Given the description of an element on the screen output the (x, y) to click on. 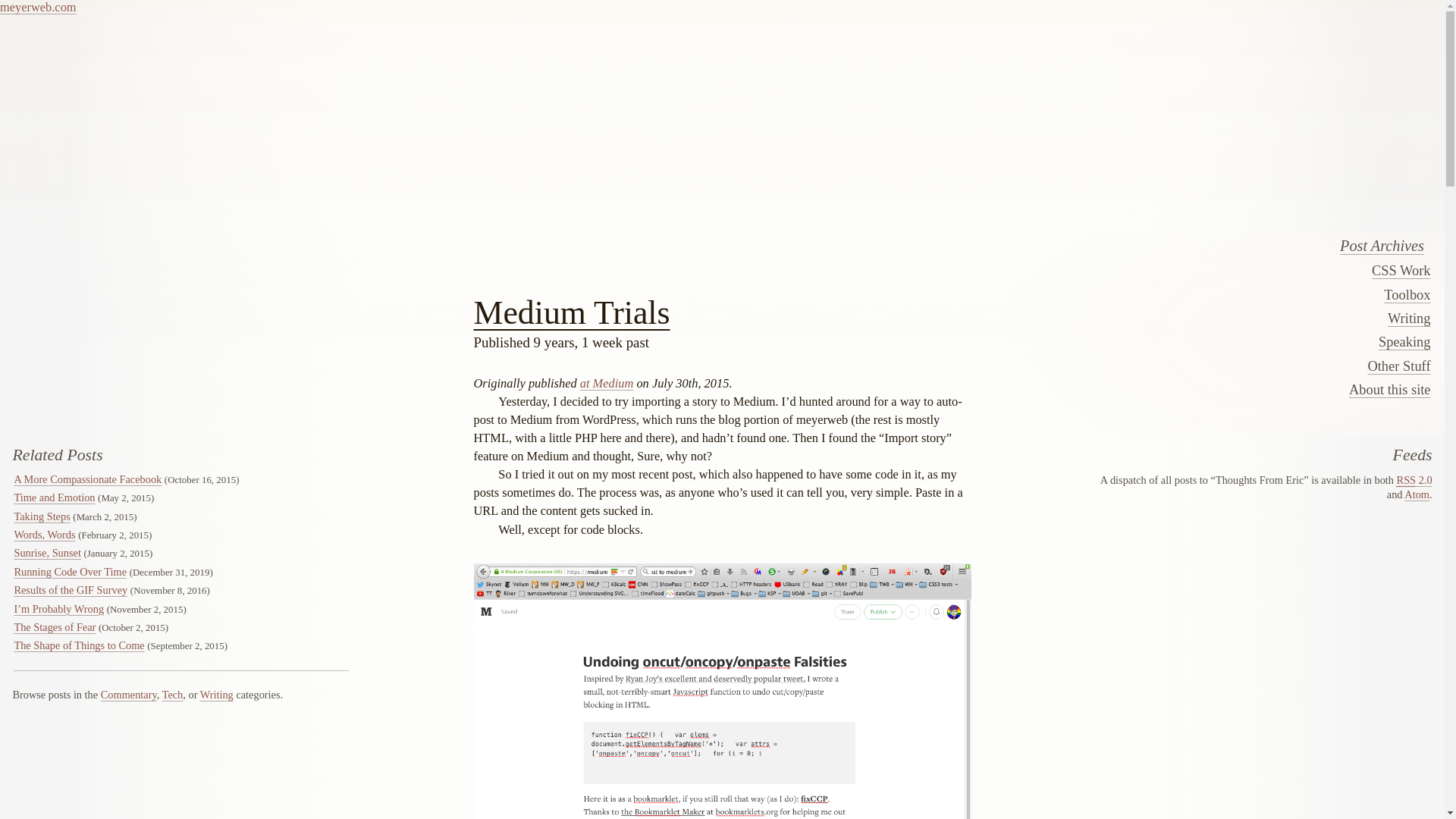
Taking Steps (41, 516)
Really Simple Syndication (1406, 480)
The Stages of Fear (54, 626)
Time and Emotion (53, 497)
Sunrise, Sunset (46, 552)
Running Code Over Time (69, 571)
Aggregate posts using RSS (1414, 480)
Writing (1220, 318)
at Medium (606, 382)
Speaking (1220, 341)
